Given the description of an element on the screen output the (x, y) to click on. 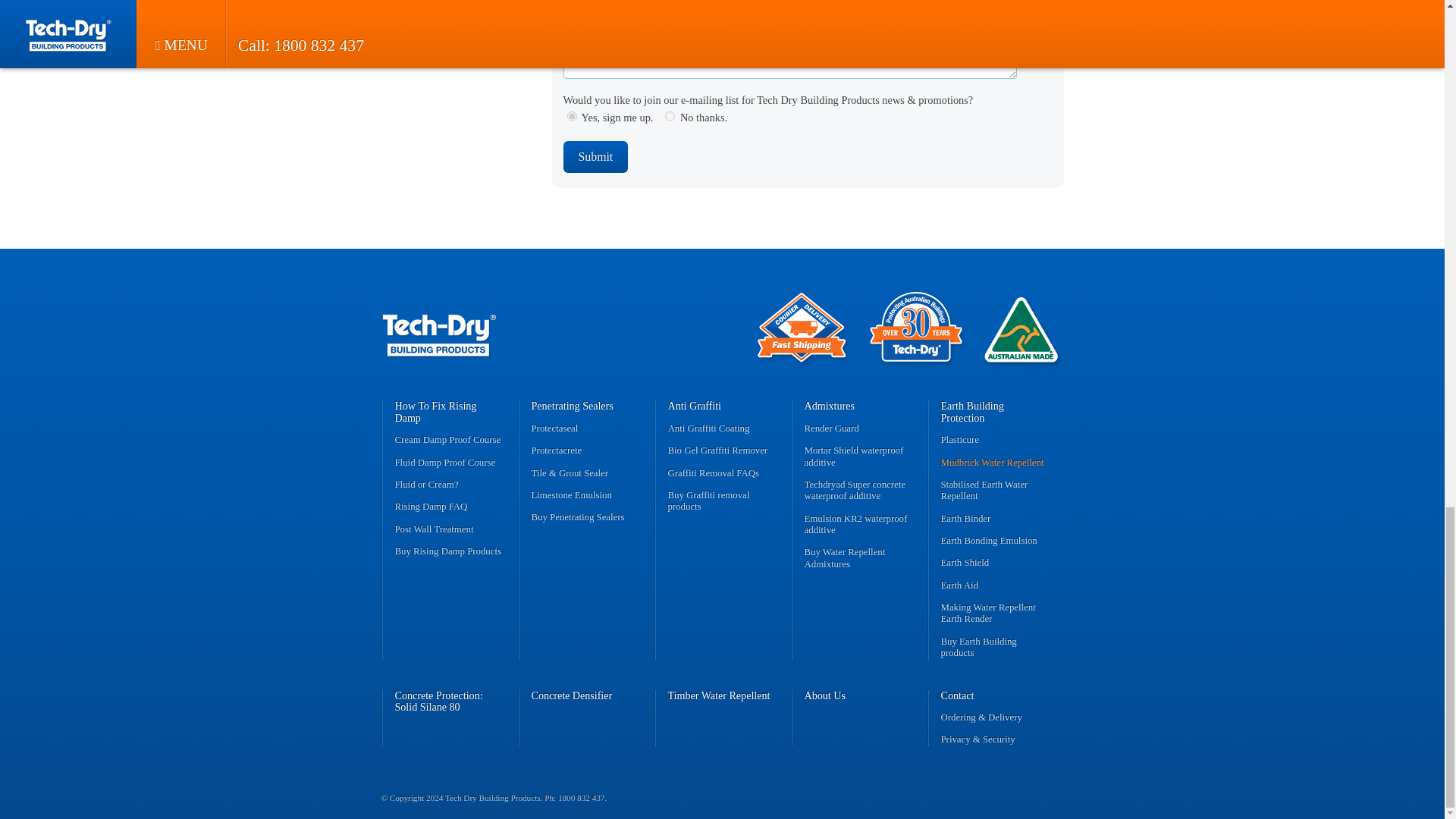
no (670, 116)
Back to Home (438, 322)
Submit (594, 156)
yes (571, 116)
